Given the description of an element on the screen output the (x, y) to click on. 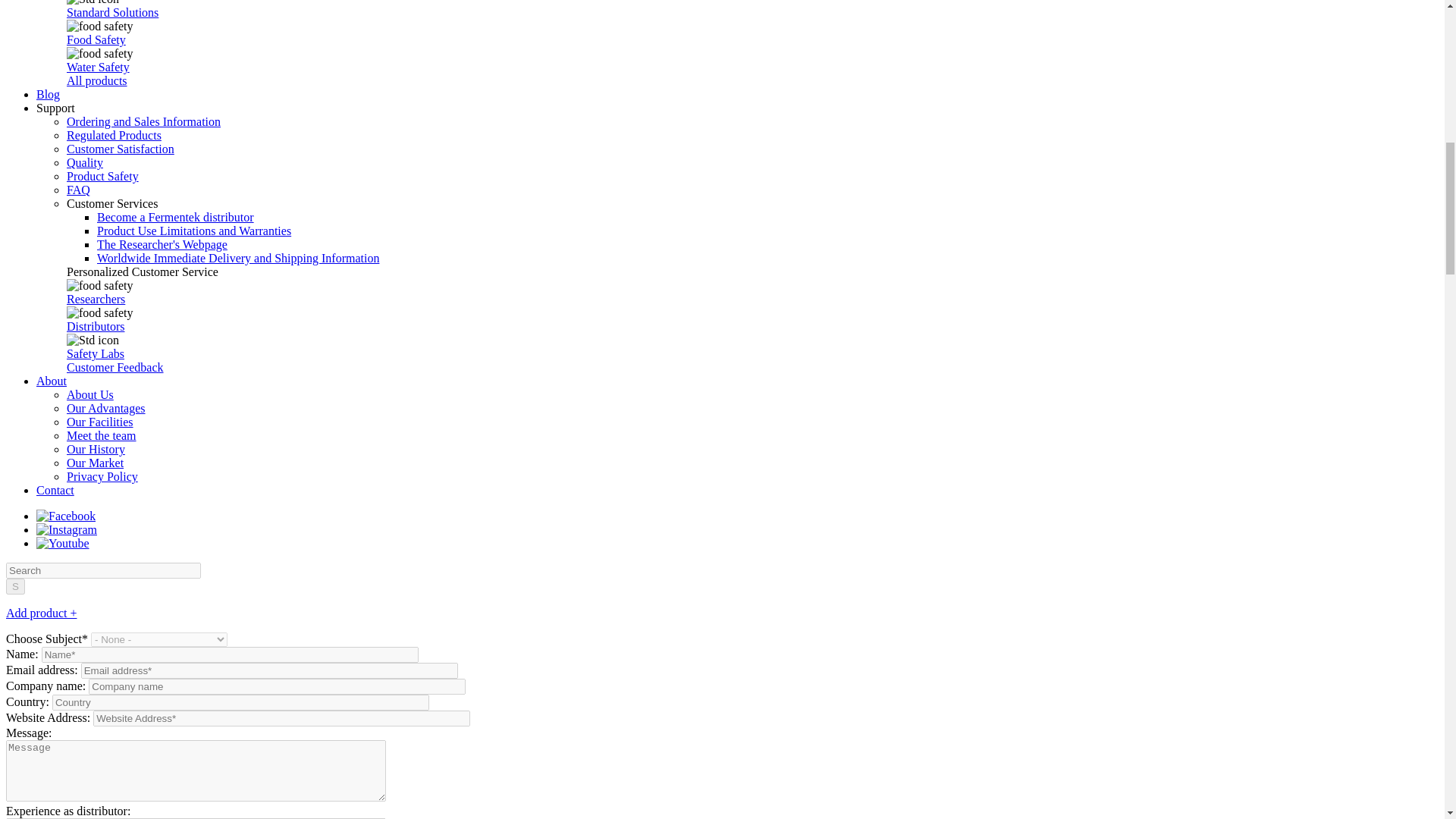
S (14, 586)
Regulated Products (113, 134)
Ordering and Sales Information (143, 121)
